Given the description of an element on the screen output the (x, y) to click on. 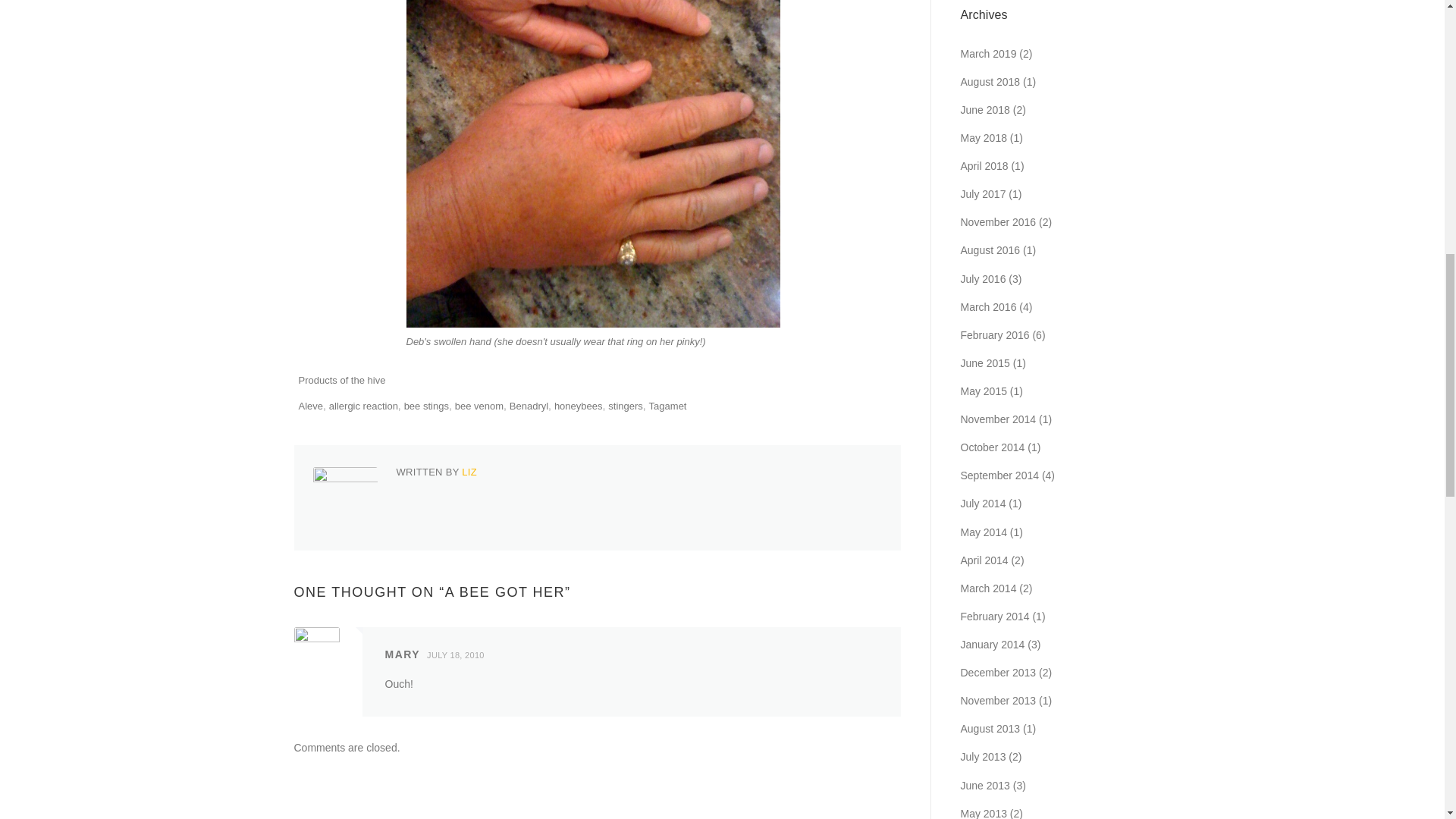
Tagamet (668, 405)
LIZ (469, 471)
bee stings (426, 405)
Products of the hive (341, 379)
allergic reaction (363, 405)
honeybees (578, 405)
stingers (625, 405)
Benadryl (528, 405)
JULY 18, 2010 (459, 655)
Aleve (310, 405)
bee venom (478, 405)
